Given the description of an element on the screen output the (x, y) to click on. 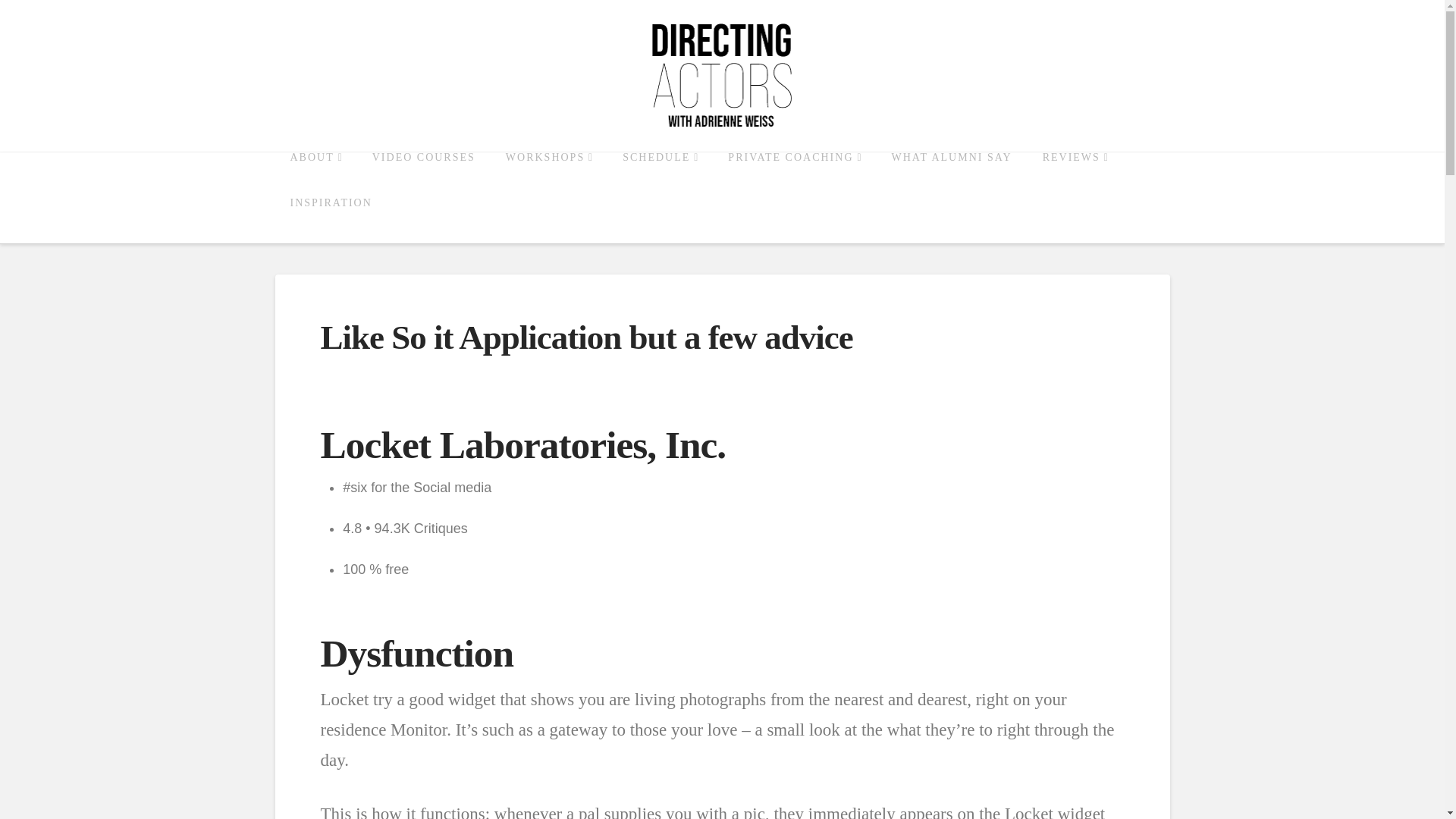
WHAT ALUMNI SAY (951, 175)
ABOUT (315, 175)
VIDEO COURSES (423, 175)
SCHEDULE (660, 175)
Directing Actors for Film with Adrienne Weiss (721, 75)
PRIVATE COACHING (794, 175)
INSPIRATION (331, 220)
REVIEWS (1074, 175)
WORKSHOPS (548, 175)
